Given the description of an element on the screen output the (x, y) to click on. 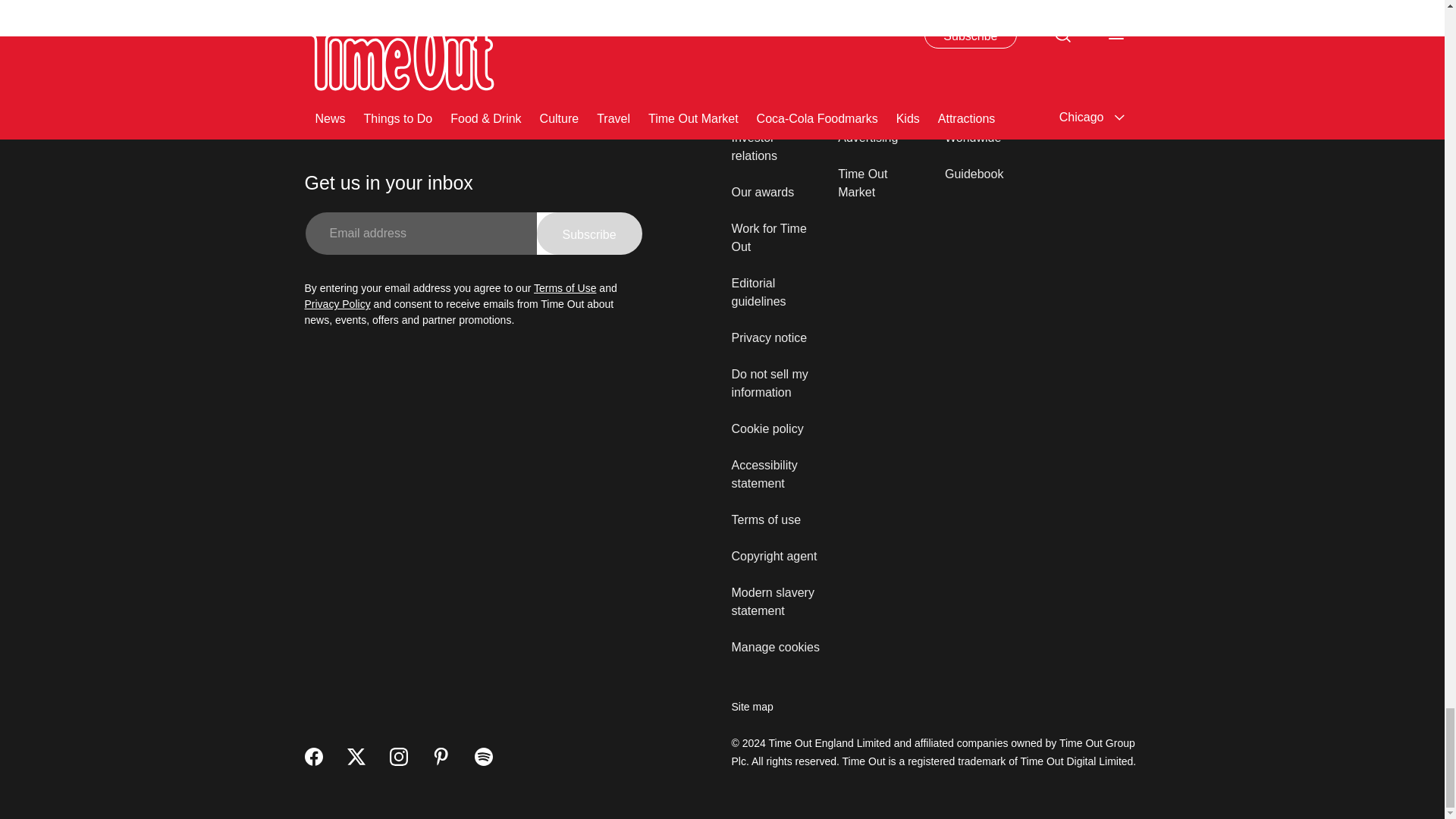
Subscribe (589, 233)
